Given the description of an element on the screen output the (x, y) to click on. 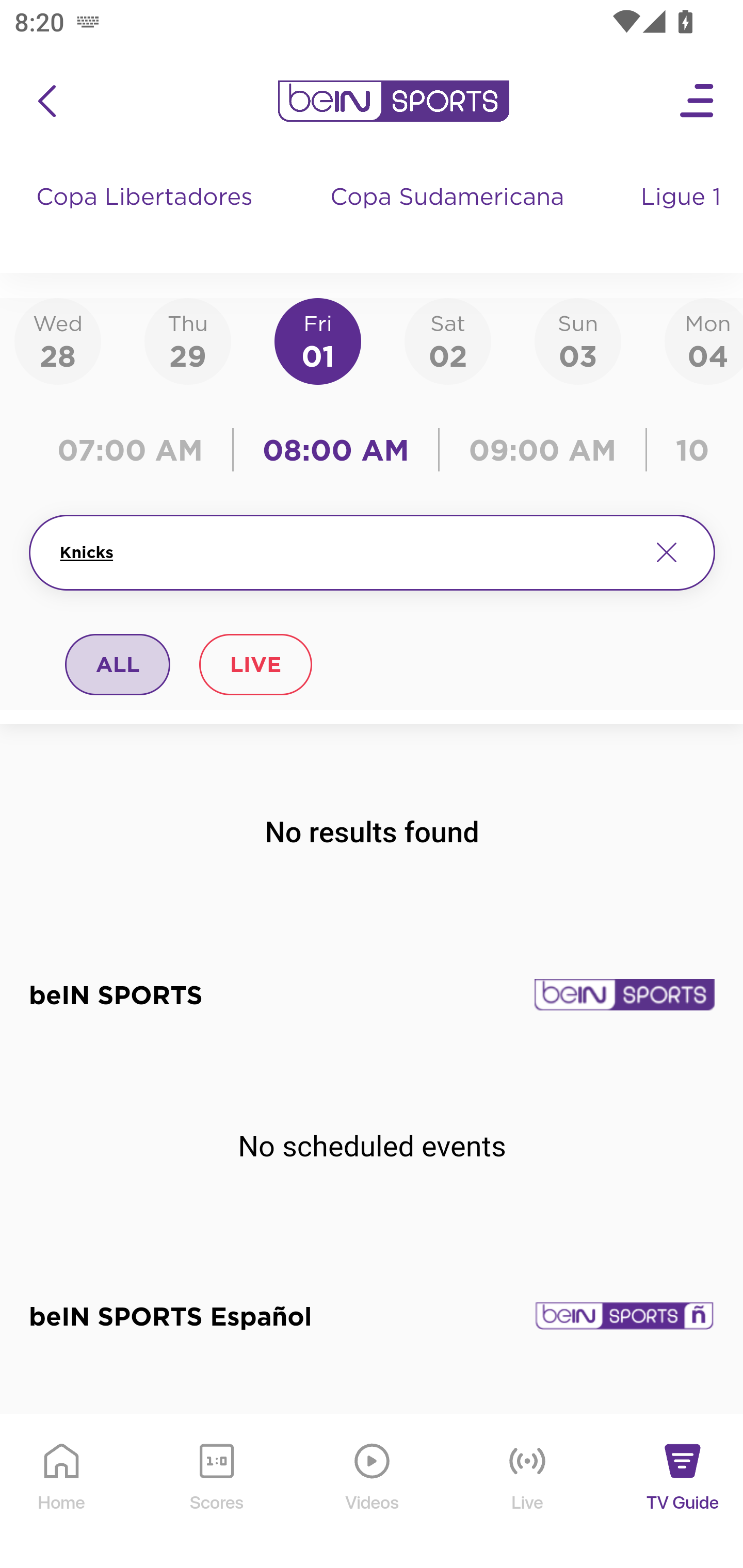
en-us?platform=mobile_android bein logo (392, 101)
icon back (46, 101)
Open Menu Icon (697, 101)
Copa Libertadores (146, 216)
Copa Sudamericana (448, 216)
Ligue 1 (682, 216)
Wed28 (58, 340)
Thu29 (187, 340)
Fri01 (318, 340)
Sat02 (447, 340)
Sun03 (578, 340)
Mon04 (703, 340)
07:00 AM (135, 449)
08:00 AM (336, 449)
09:00 AM (542, 449)
Knicks (346, 552)
ALL (118, 663)
LIVE (255, 663)
Home Home Icon Home (61, 1491)
Scores Scores Icon Scores (216, 1491)
Videos Videos Icon Videos (372, 1491)
TV Guide TV Guide Icon TV Guide (682, 1491)
